Given the description of an element on the screen output the (x, y) to click on. 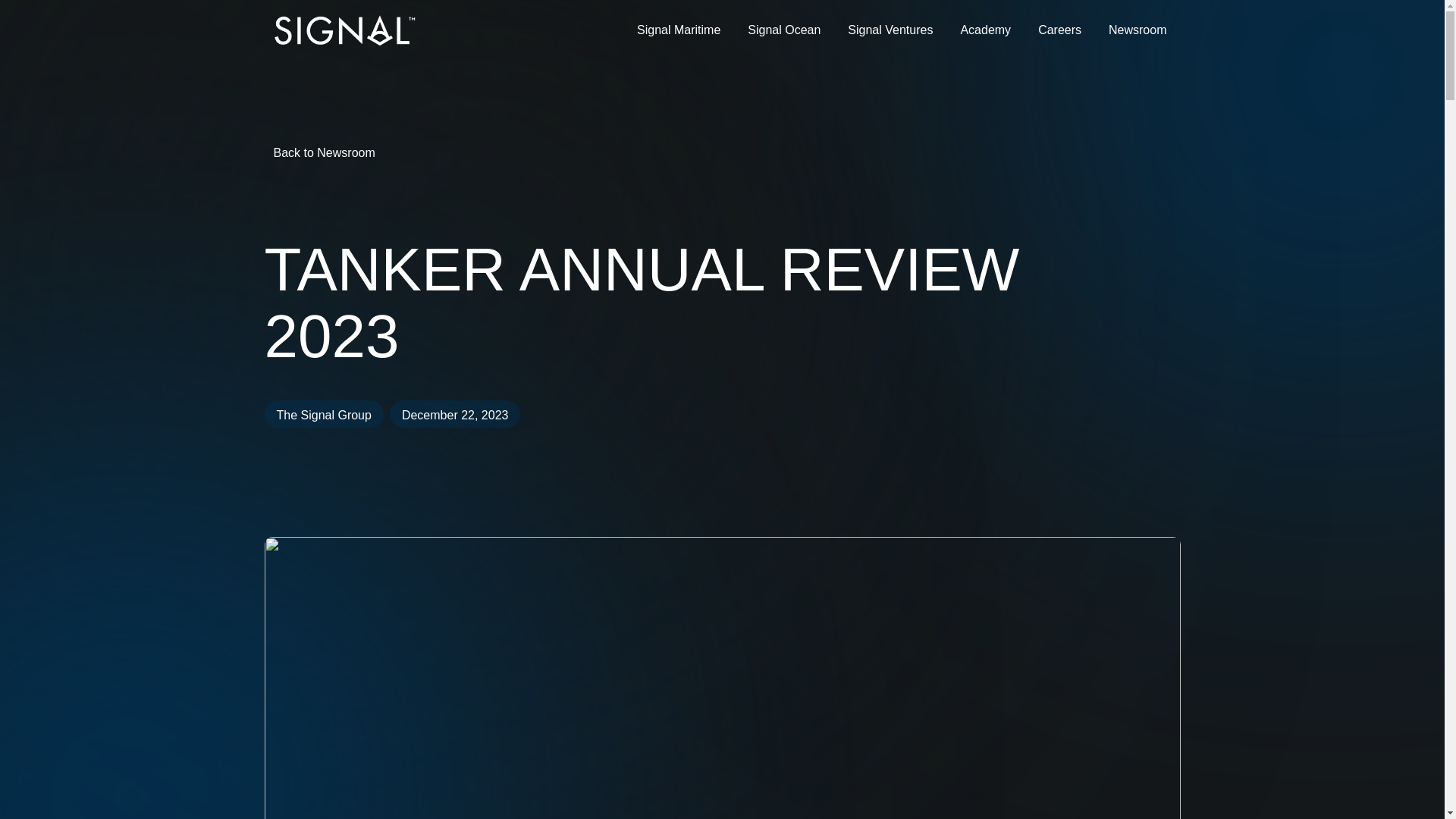
Careers (1059, 30)
Signal Ocean (783, 30)
Newsroom (1136, 30)
Signal Ventures (890, 30)
Academy (985, 30)
Signal Maritime (678, 30)
